Given the description of an element on the screen output the (x, y) to click on. 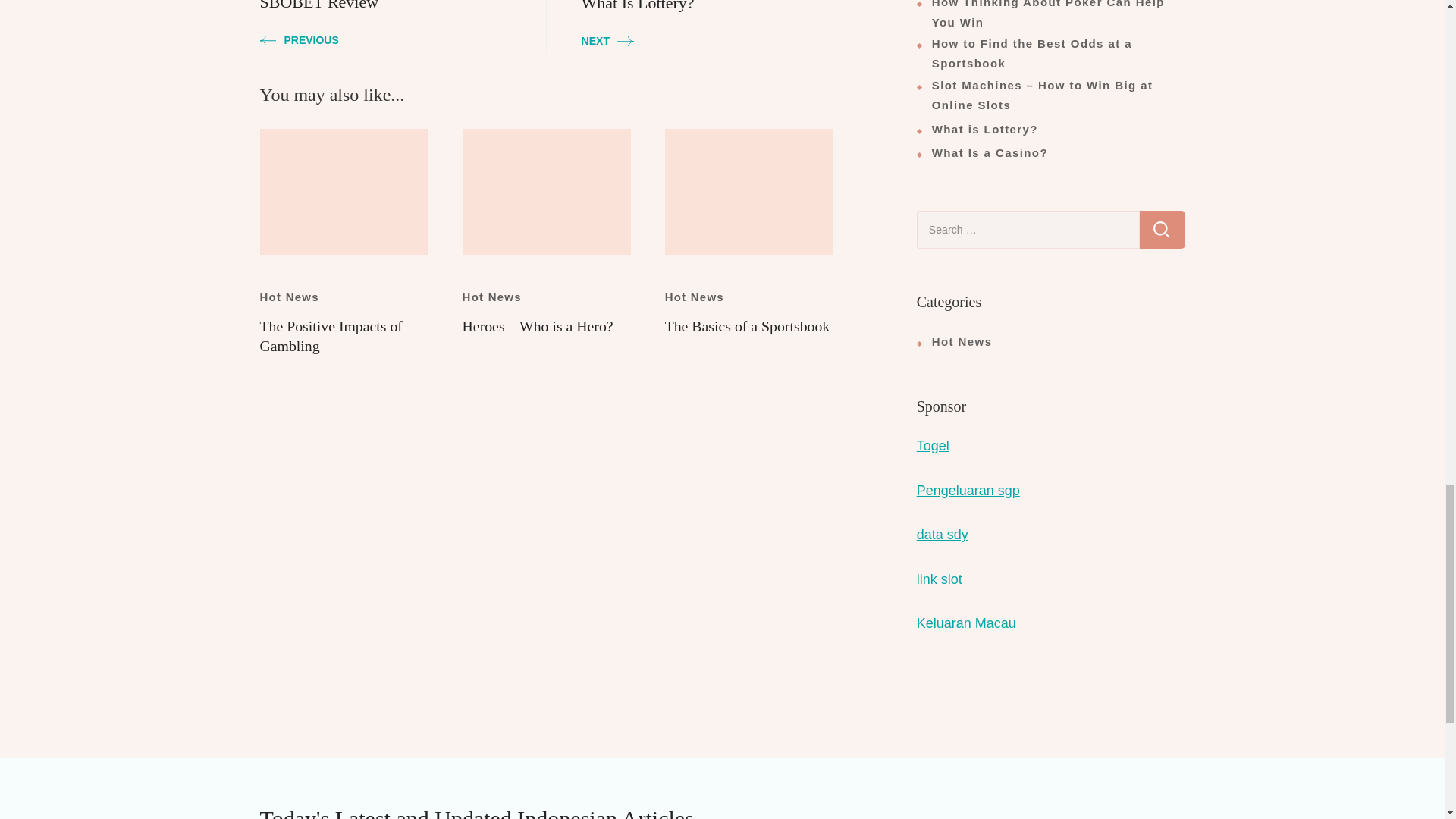
Hot News (288, 296)
Hot News (492, 296)
Hot News (694, 296)
Search (1161, 229)
The Positive Impacts of Gambling (330, 335)
Search (1161, 229)
The Basics of a Sportsbook (747, 325)
